Given the description of an element on the screen output the (x, y) to click on. 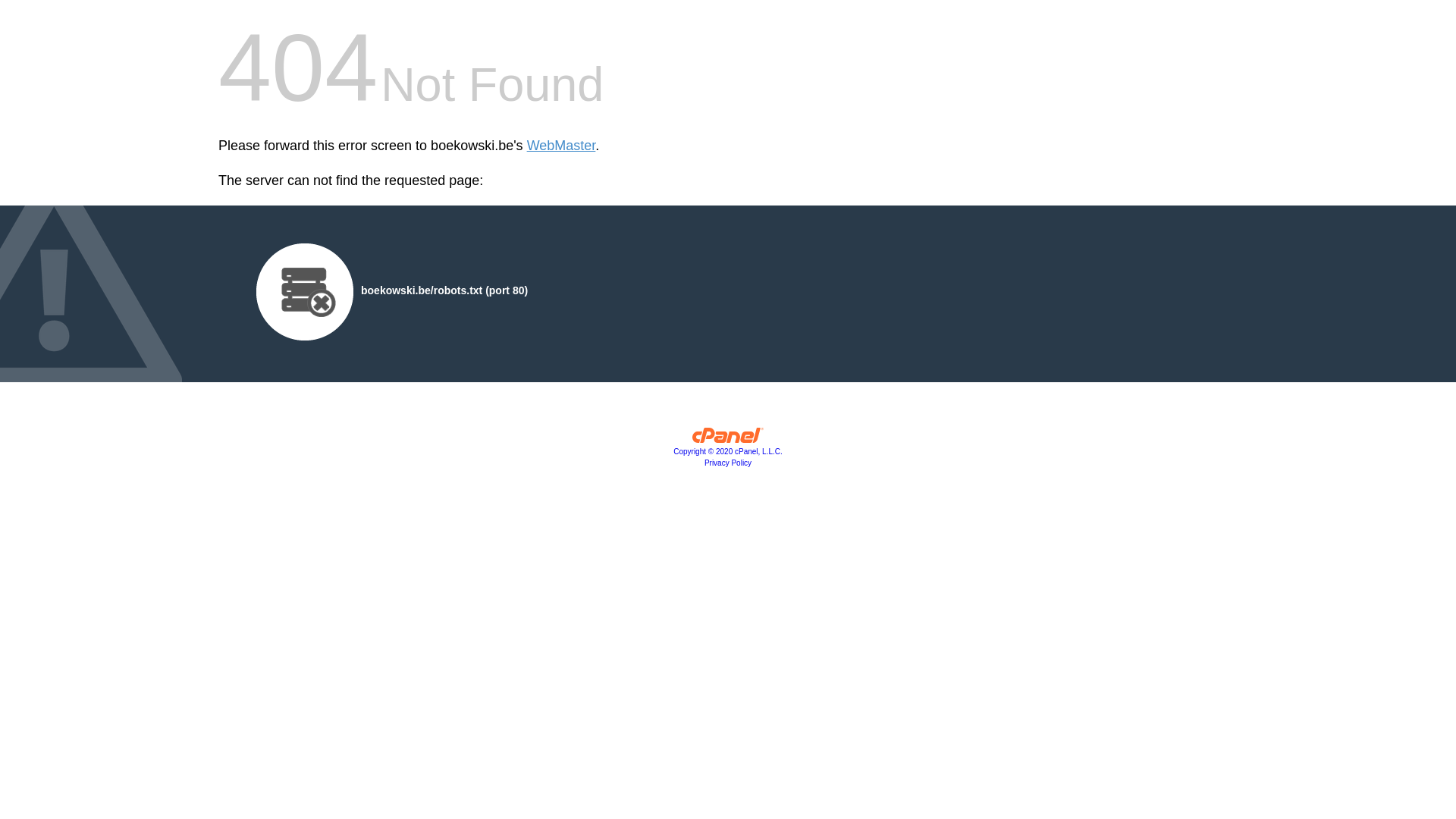
WebMaster Element type: text (561, 145)
Privacy Policy Element type: text (727, 462)
cPanel, Inc. Element type: hover (728, 439)
